Given the description of an element on the screen output the (x, y) to click on. 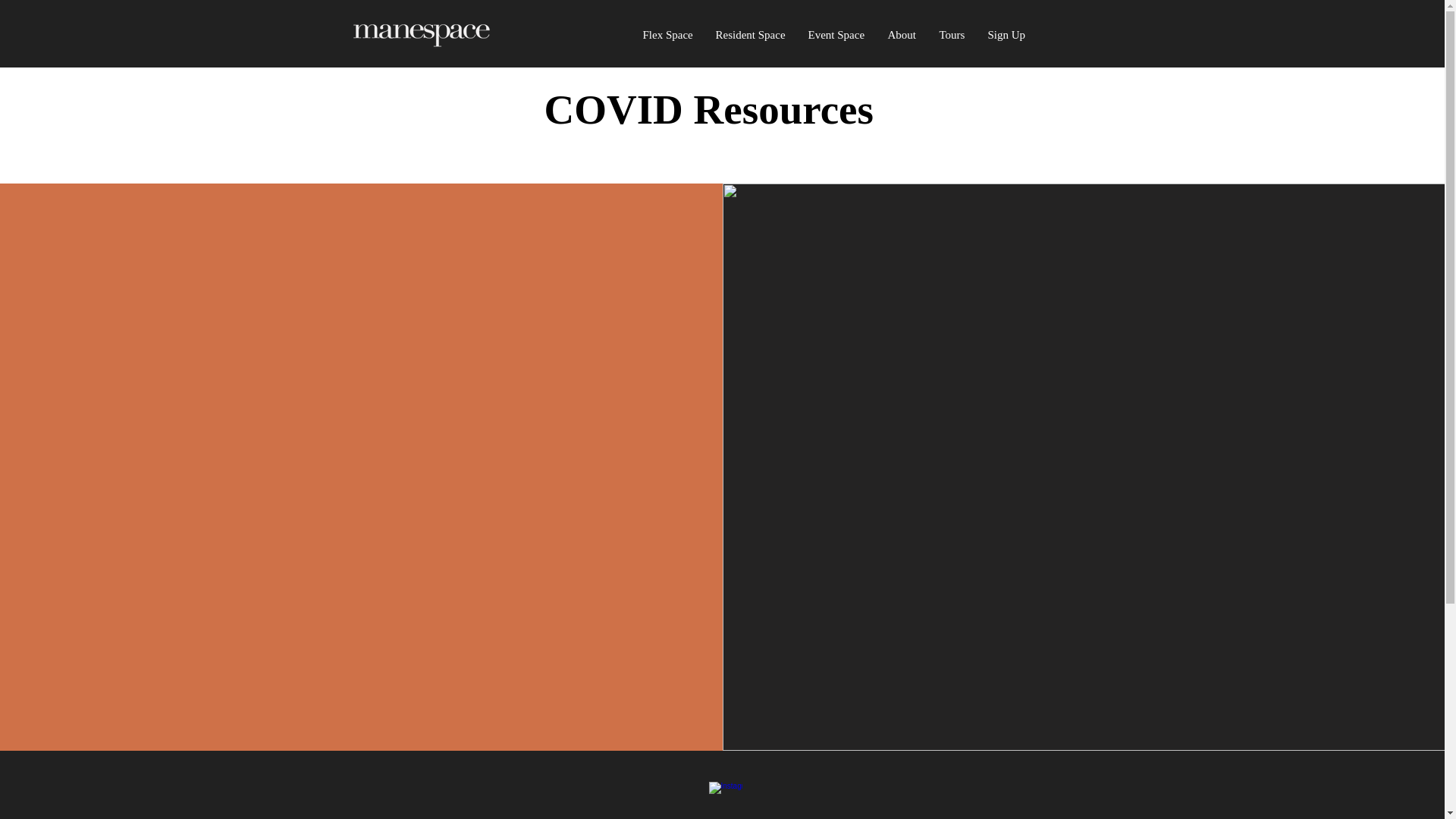
Event Space (836, 34)
Sign Up (1006, 34)
About (902, 34)
Flex Space (666, 34)
Resident Space (749, 34)
Tours (952, 34)
